Given the description of an element on the screen output the (x, y) to click on. 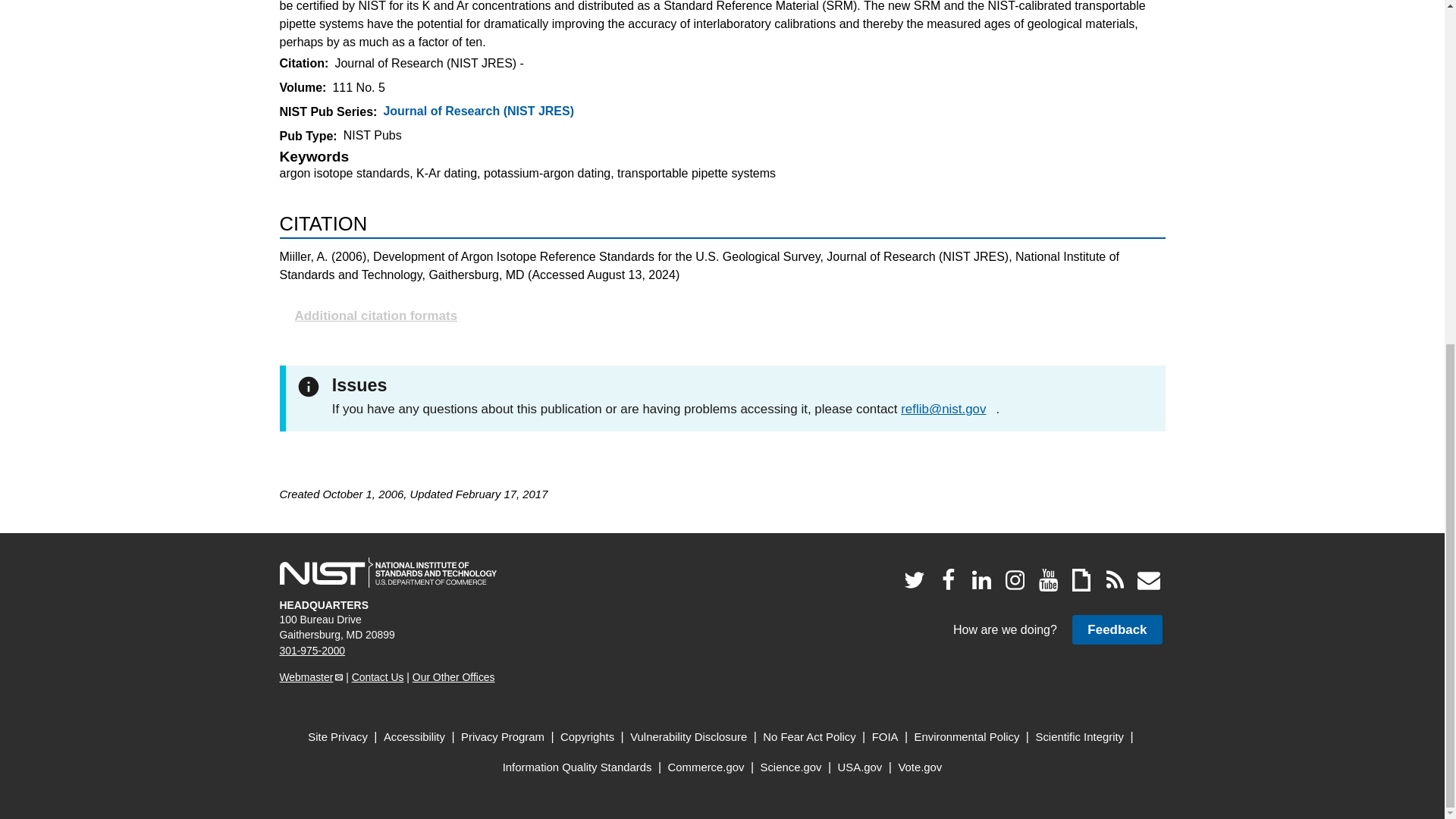
Vulnerability Disclosure (688, 736)
Scientific Integrity (1079, 736)
Contact Us (378, 676)
FOIA (885, 736)
Additional citation formats (721, 315)
Provide feedback (1116, 629)
Webmaster (310, 676)
No Fear Act Policy (809, 736)
National Institute of Standards and Technology (387, 572)
Environmental Policy (967, 736)
